Given the description of an element on the screen output the (x, y) to click on. 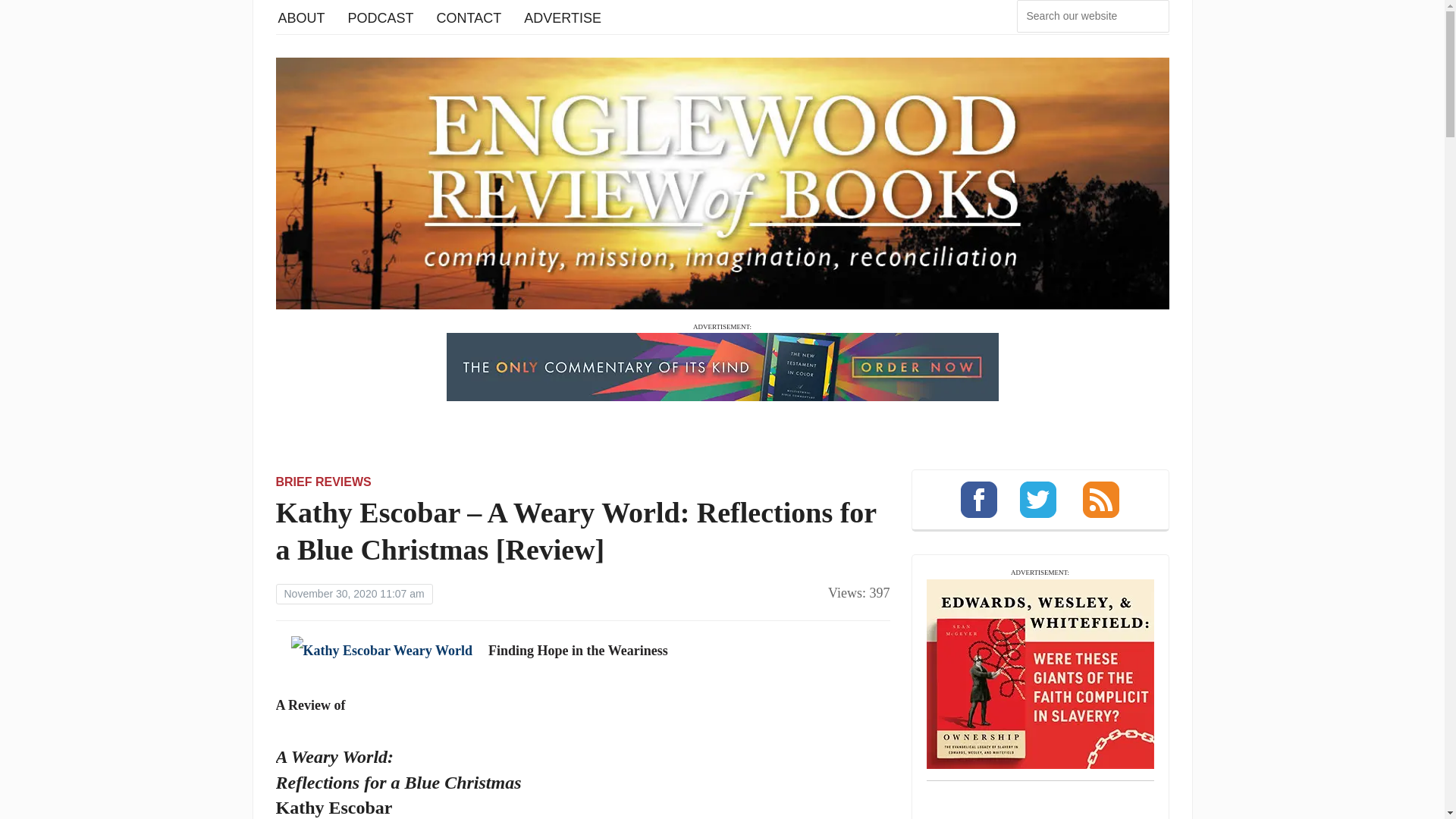
CONTACT (469, 17)
BRIEF REVIEWS (323, 481)
PODCAST (380, 17)
ADVERTISE (562, 17)
ABOUT (301, 17)
